Given the description of an element on the screen output the (x, y) to click on. 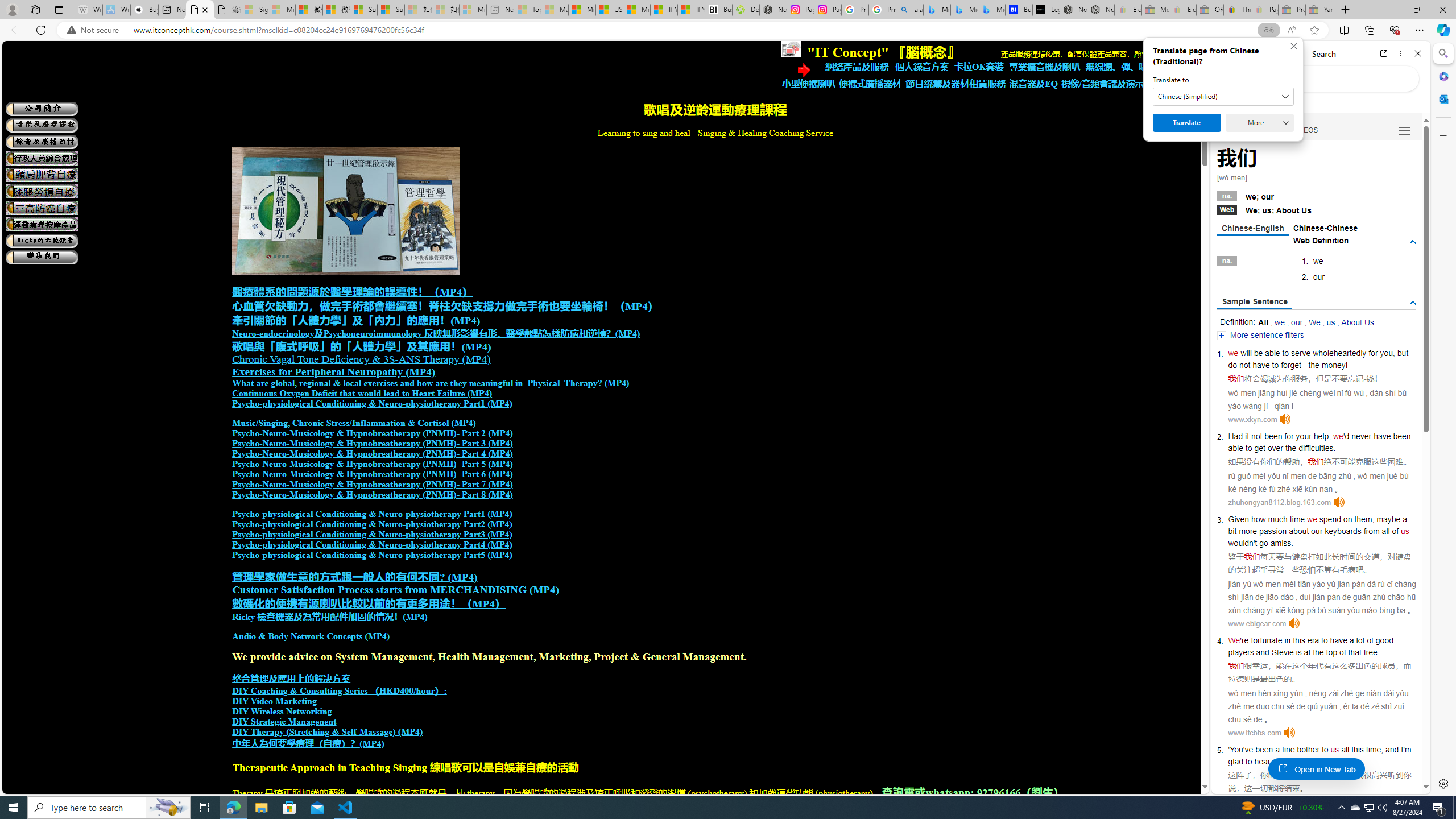
Us (1306, 209)
Payments Terms of Use | eBay.com - Sleeping (1264, 9)
Microsoft Bing Travel - Shangri-La Hotel Bangkok (991, 9)
Microsoft Start (636, 9)
This site scope (1259, 102)
top (1331, 651)
VIDEOS (1304, 130)
